Given the description of an element on the screen output the (x, y) to click on. 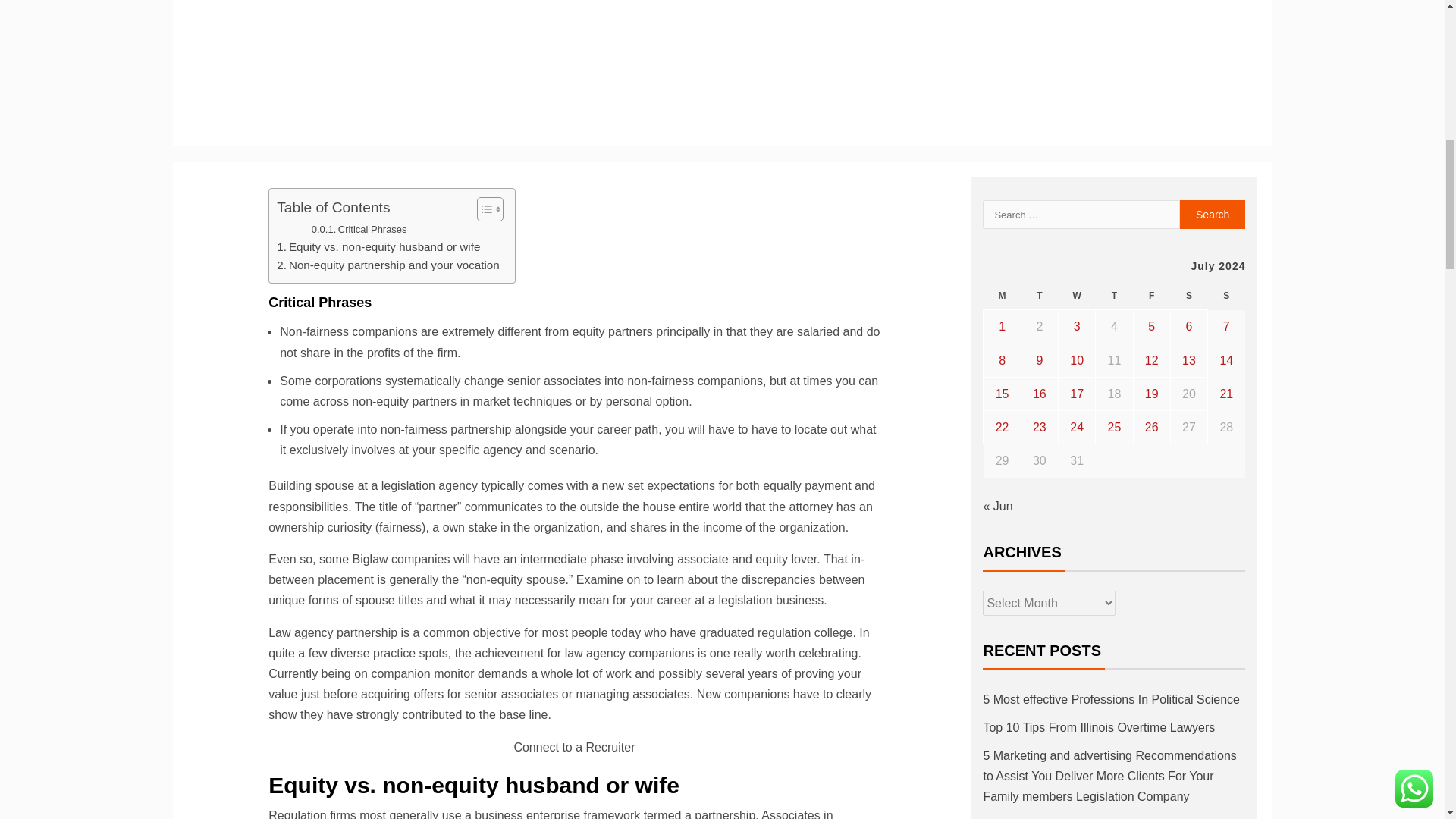
Equity vs. non-equity husband or wife (378, 247)
Critical Phrases (359, 229)
Non-equity partnership and your vocation (387, 265)
Equity vs. non-equity husband or wife (378, 247)
Search (1212, 214)
Critical Phrases (359, 229)
Search (1212, 214)
